Given the description of an element on the screen output the (x, y) to click on. 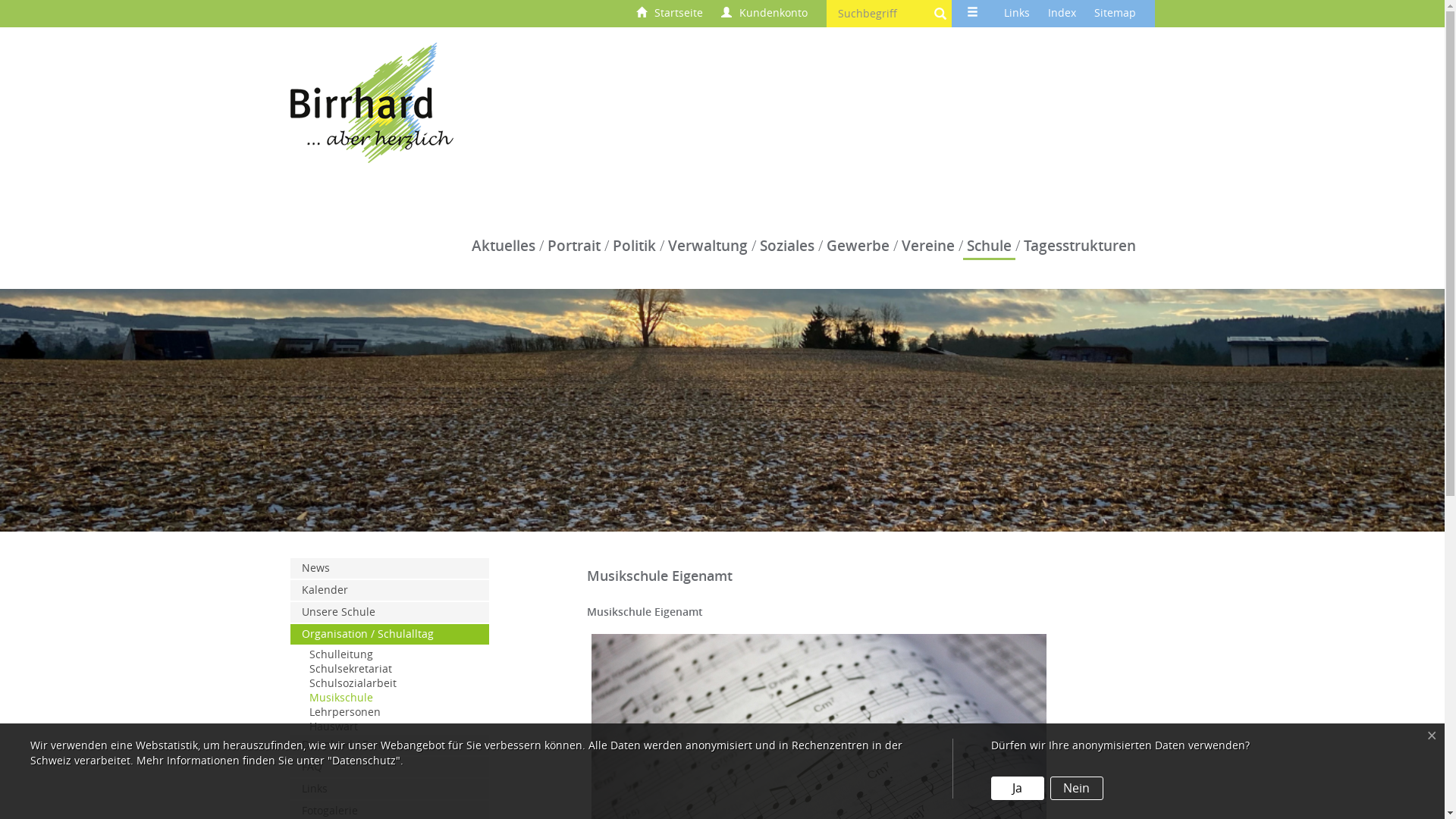
Vereine Element type: text (927, 245)
Kalender Element type: text (389, 590)
Nein Element type: text (1076, 788)
Download / Formulare Element type: text (389, 744)
Sitemap Element type: text (1114, 12)
Organisation / Schulalltag Element type: text (389, 634)
Schule Element type: text (989, 245)
Schulsekretariat Element type: text (389, 668)
Schulleitung Element type: text (389, 654)
Soziales Element type: text (786, 245)
Startseite Element type: text (668, 12)
FAQ Element type: text (389, 766)
Politik Element type: text (633, 245)
Lehrpersonen Element type: text (389, 712)
Portrait Element type: text (572, 245)
Gewerbe Element type: text (857, 245)
Links Element type: text (389, 788)
Schulsozialarbeit Element type: text (389, 683)
Links Element type: text (1016, 12)
Gemeinde Birrhard Element type: hover (370, 101)
Ja Element type: text (1017, 788)
Verwaltung Element type: text (707, 245)
Unsere Schule Element type: text (389, 612)
News Element type: text (389, 568)
Kundenkonto Element type: text (763, 12)
Hauswart Element type: text (389, 726)
Aktuelles Element type: text (502, 245)
Tagesstrukturen Element type: text (1079, 245)
Index Element type: text (1062, 12)
Musikschule Element type: text (389, 697)
